Given the description of an element on the screen output the (x, y) to click on. 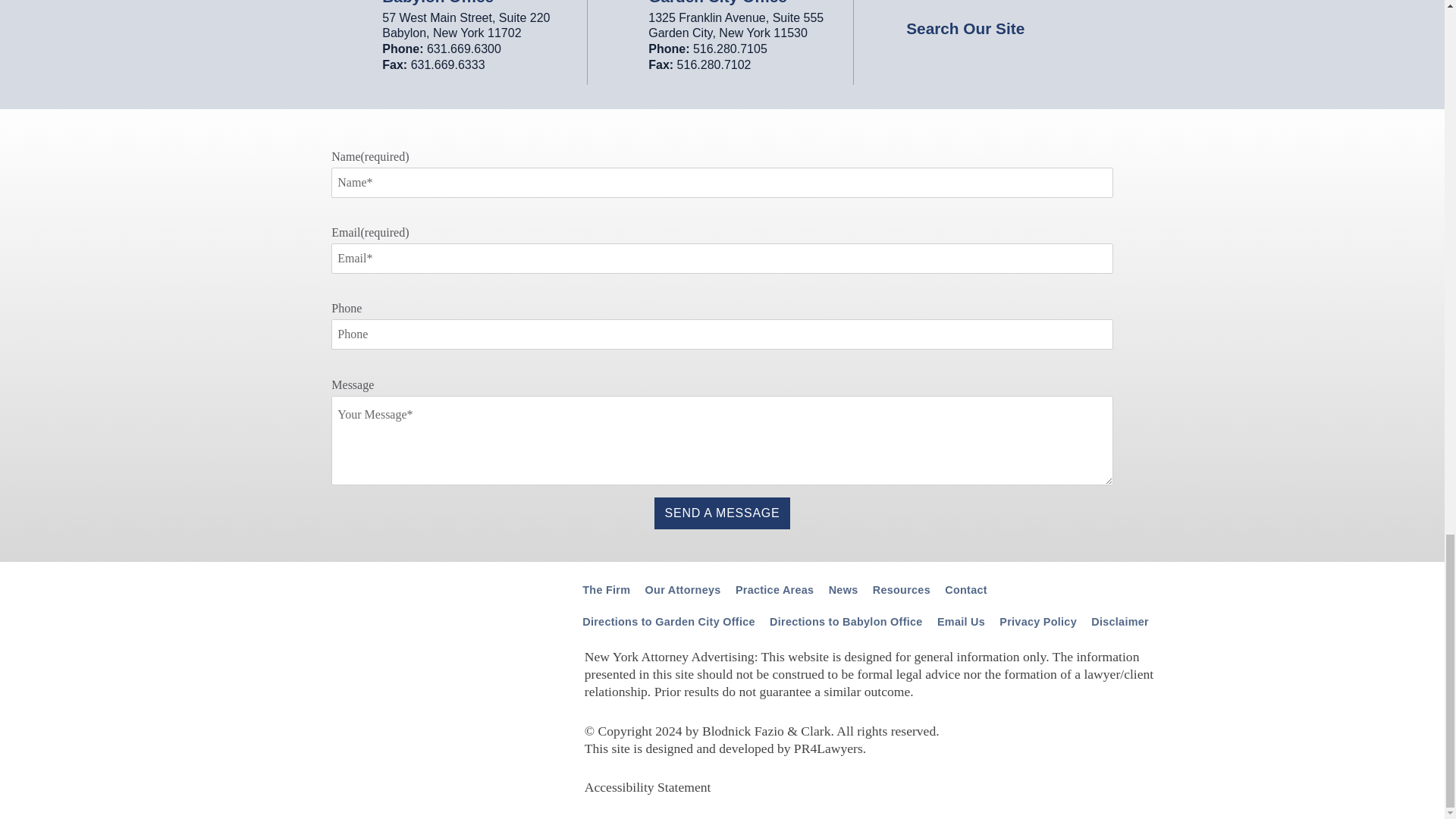
Send a Message (721, 513)
